Given the description of an element on the screen output the (x, y) to click on. 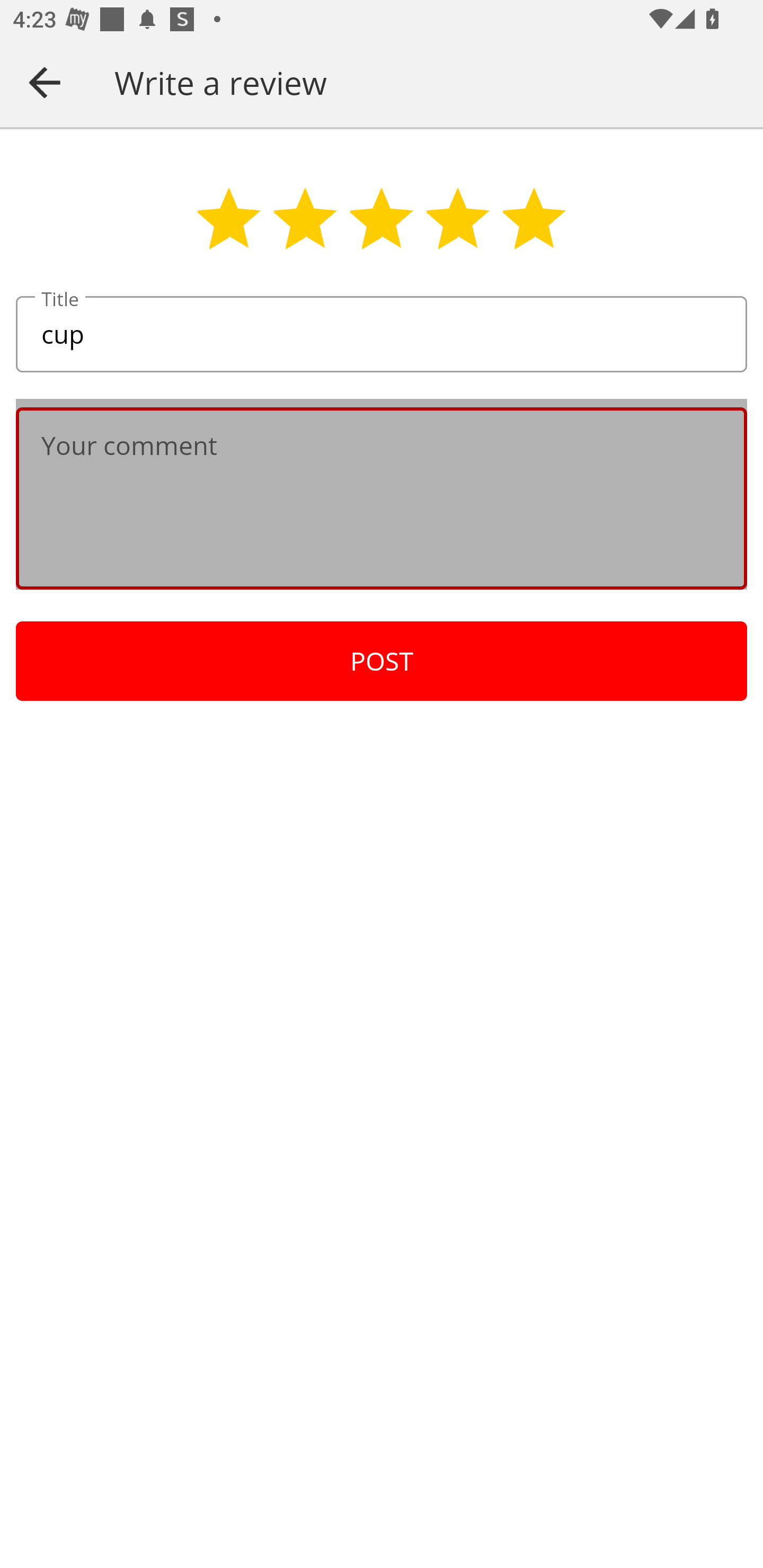
Navigate up (44, 82)
cup (381, 334)
Your comment (381, 498)
POST (381, 660)
